Given the description of an element on the screen output the (x, y) to click on. 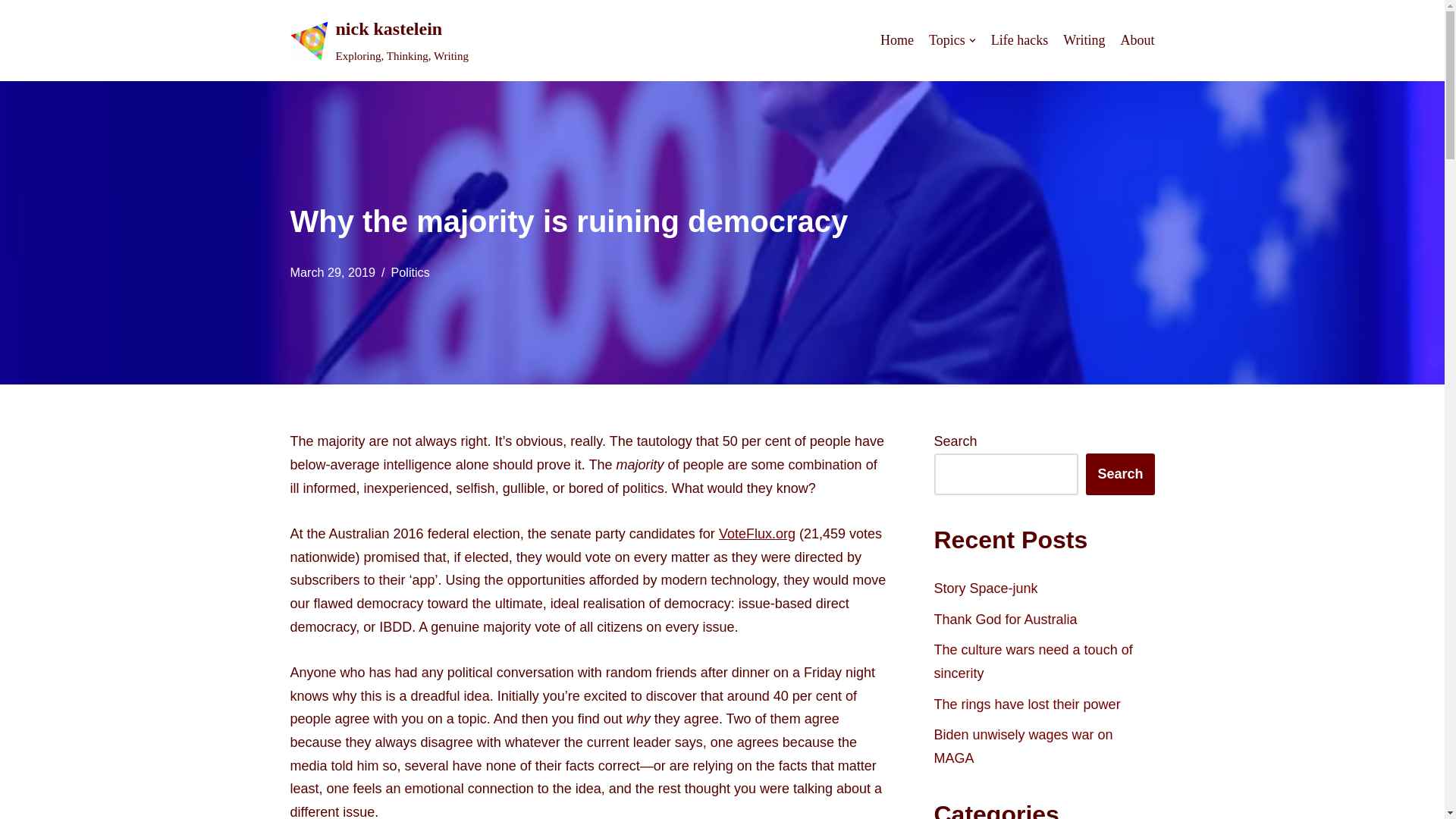
About (1137, 40)
Life hacks (1019, 40)
Topics (951, 40)
Search (1120, 474)
Home (897, 40)
nick kastelein (378, 40)
VoteFlux.org (756, 533)
Writing (1083, 40)
Politics (409, 272)
The culture wars need a touch of sincerity (1033, 661)
Story Space-junk (986, 588)
Skip to content (11, 31)
Thank God for Australia (378, 40)
